Given the description of an element on the screen output the (x, y) to click on. 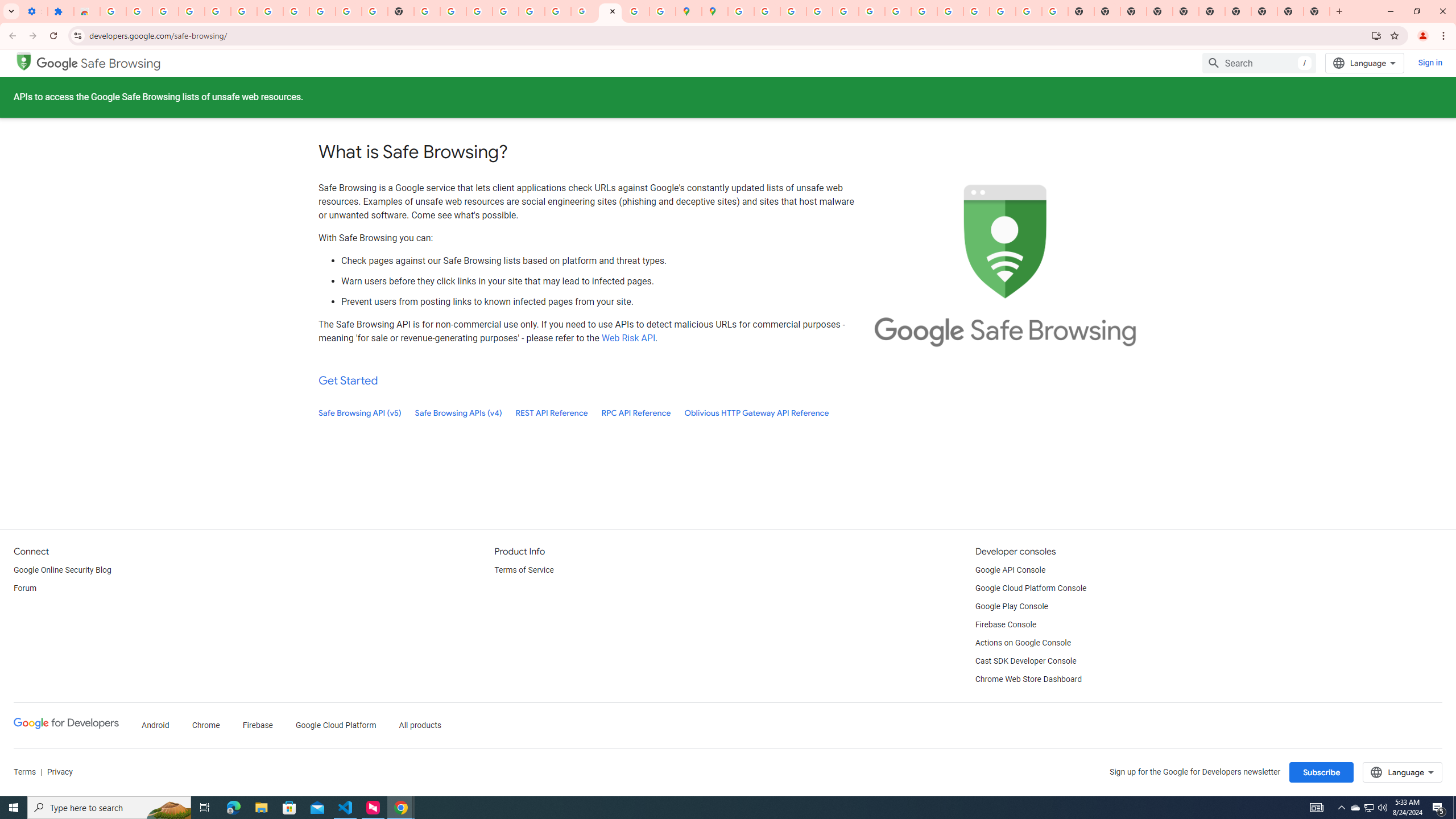
Settings - On startup (34, 11)
Privacy Help Center - Policies Help (818, 11)
Terms of Service (523, 570)
Safe Browsing APIs (v4) (458, 412)
Chrome Web Store Dashboard (1028, 679)
Language (1402, 772)
Google API Console (1010, 570)
Firebase (257, 725)
Forum (24, 588)
